Given the description of an element on the screen output the (x, y) to click on. 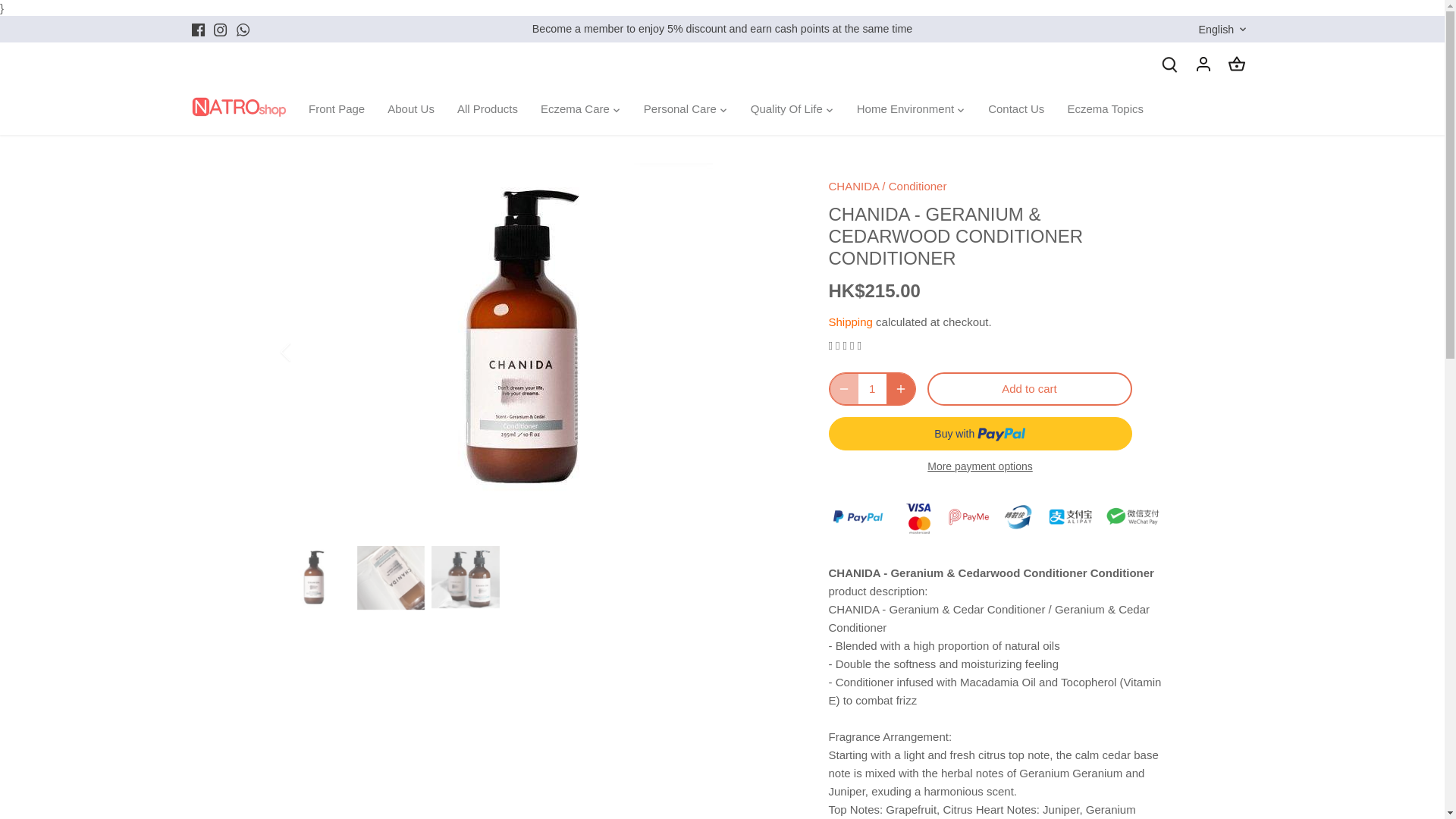
About Us (410, 109)
Facebook (196, 29)
English (1223, 29)
Instagram (220, 29)
1 (872, 388)
Eczema Care (575, 109)
Quality Of Life (786, 109)
All Products (487, 109)
Personal Care (679, 109)
Front Page (341, 109)
